Given the description of an element on the screen output the (x, y) to click on. 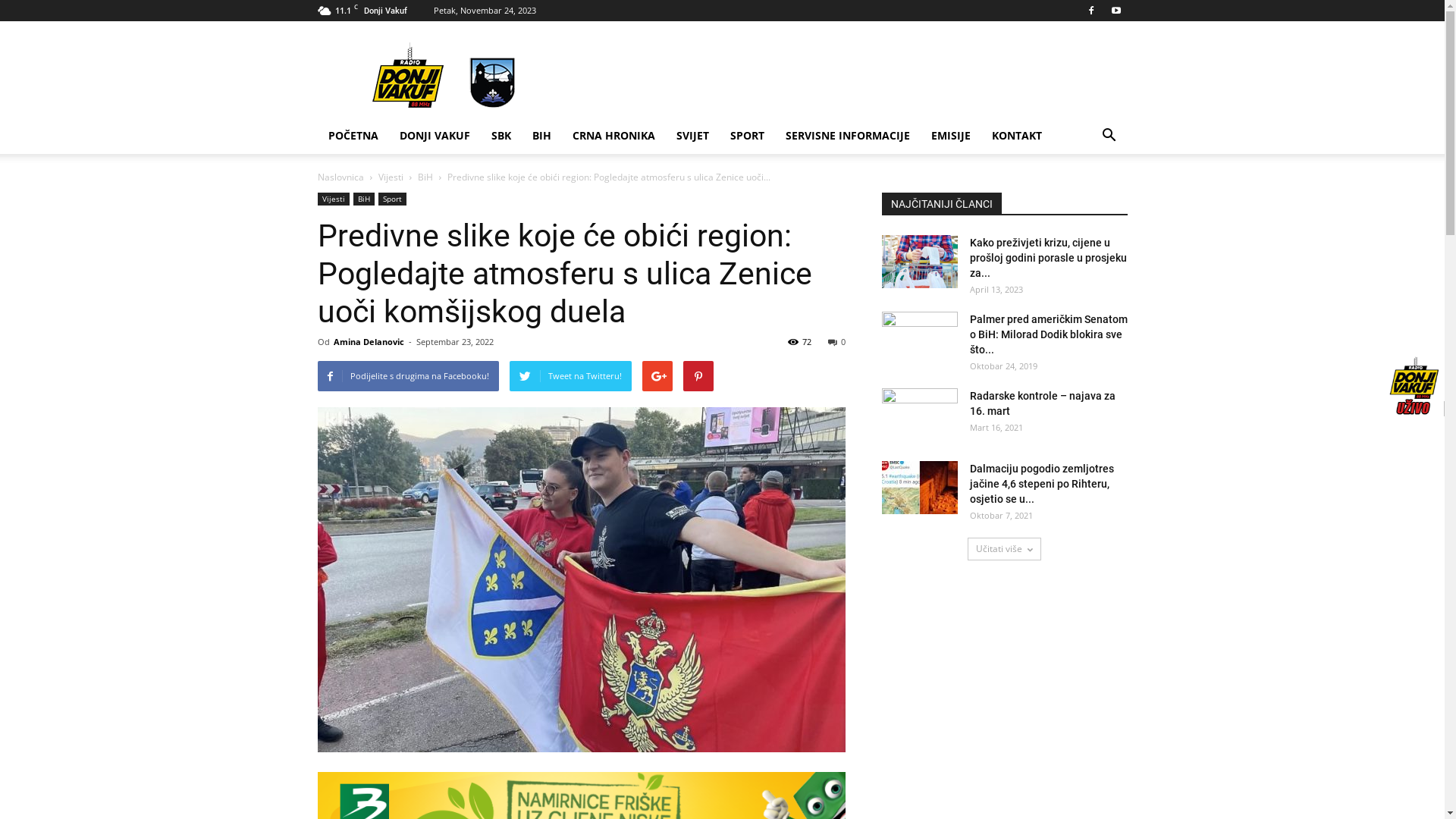
BiH Element type: text (363, 198)
Youtube Element type: hover (1115, 10)
Vijesti Element type: text (332, 198)
Pretraga Element type: text (1081, 196)
SPORT Element type: text (746, 135)
Amina Delanovic Element type: text (368, 341)
SVIJET Element type: text (692, 135)
SERVISNE INFORMACIJE Element type: text (847, 135)
BIH Element type: text (541, 135)
KONTAKT Element type: text (1016, 135)
Sport Element type: text (391, 198)
Tweet na Twitteru! Element type: text (570, 375)
5035B253-FE1C-46C5-AC4B-4A3046A0145C Element type: hover (580, 579)
Facebook Element type: hover (1090, 10)
Vijesti Element type: text (389, 176)
CRNA HRONIKA Element type: text (613, 135)
Podijelite s drugima na Facebooku! Element type: text (407, 375)
0 Element type: text (836, 341)
DONJI VAKUF Element type: text (434, 135)
Naslovnica Element type: text (339, 176)
SBK Element type: text (500, 135)
EMISIJE Element type: text (950, 135)
BiH Element type: text (424, 176)
